Given the description of an element on the screen output the (x, y) to click on. 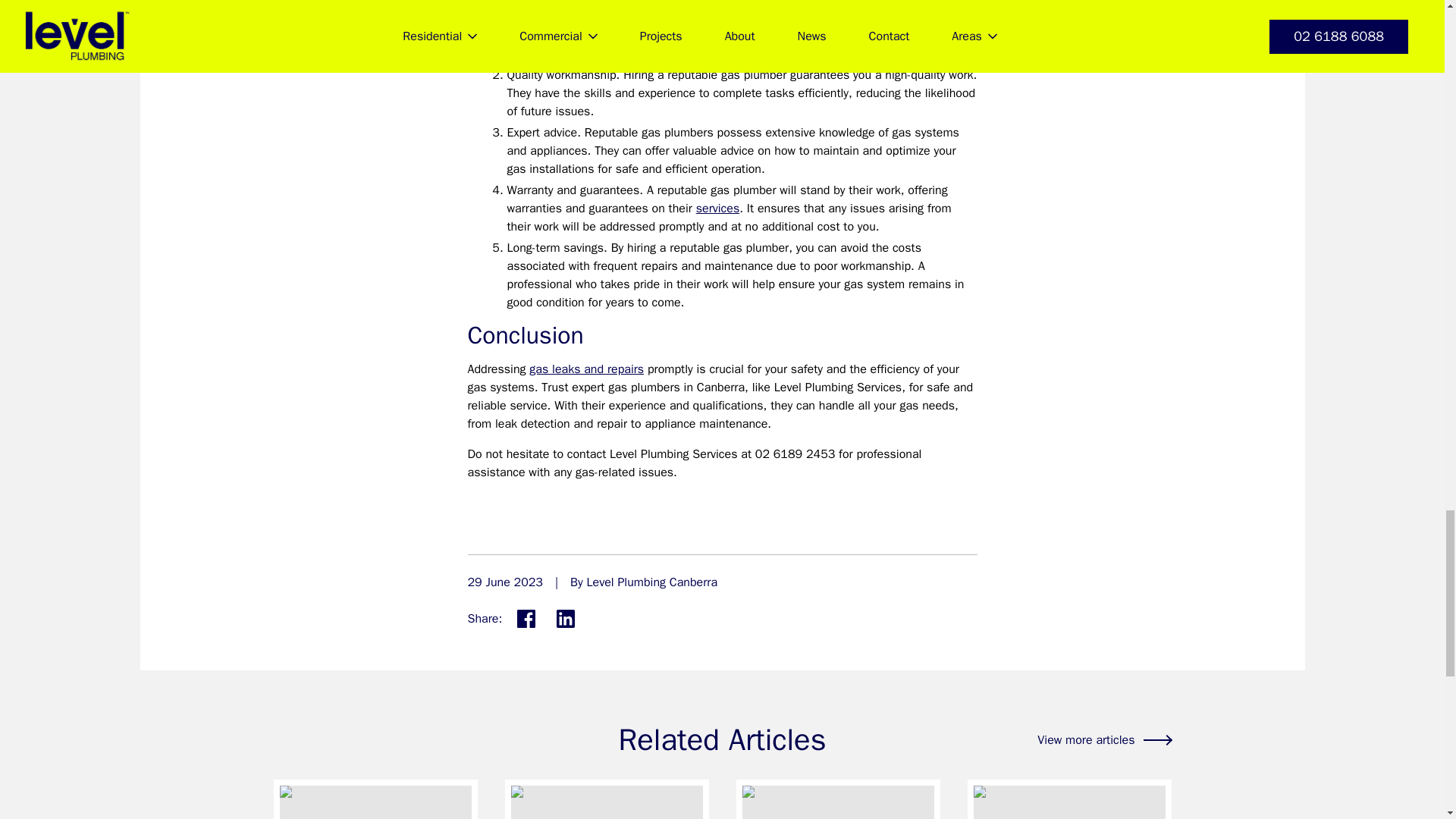
Share on Facebook (526, 618)
Share on LinkedIn (565, 618)
